Given the description of an element on the screen output the (x, y) to click on. 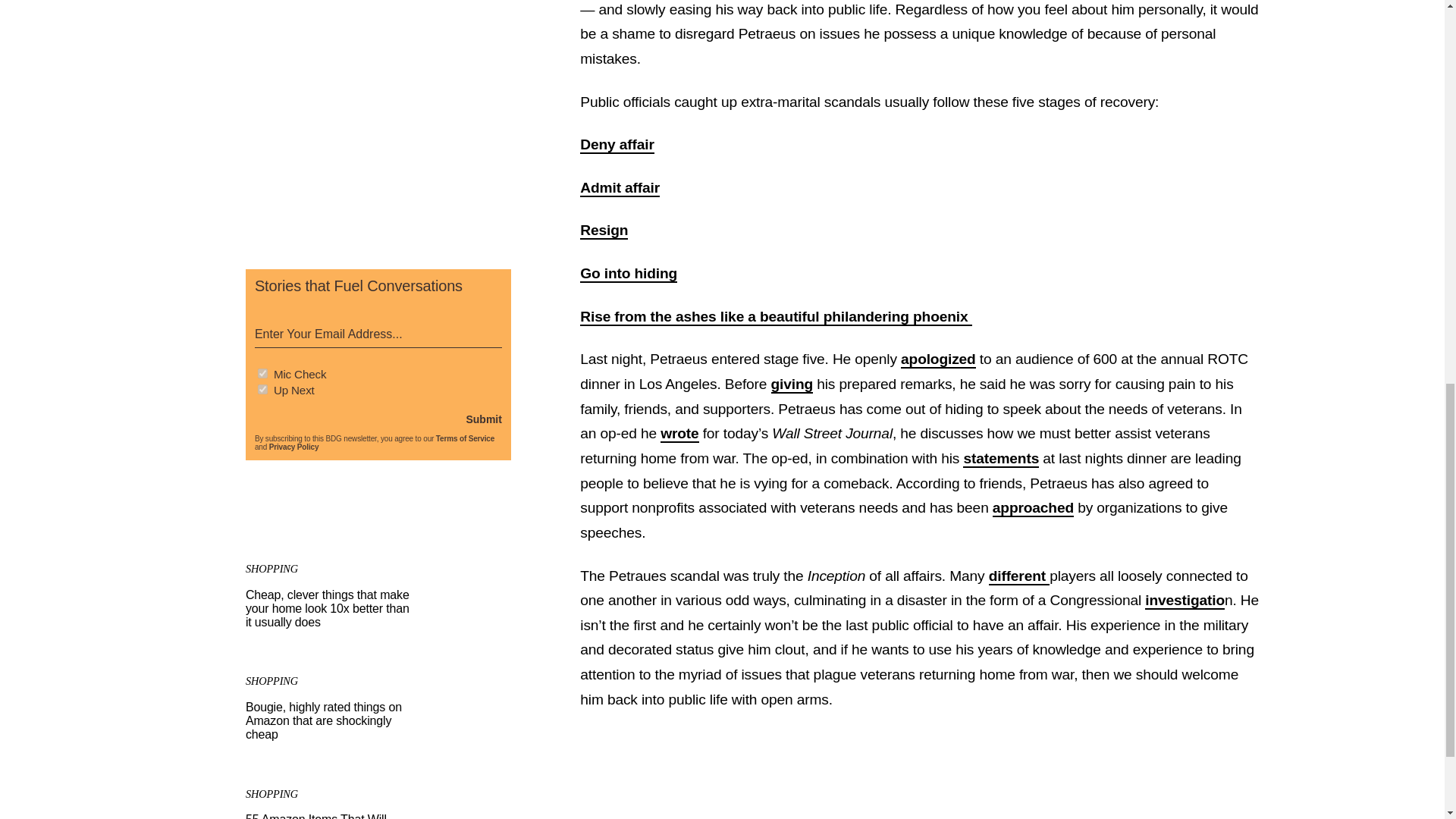
Deny affair (616, 144)
wrote (679, 434)
Resign (603, 230)
Rise from the ashes like a beautiful philandering phoenix  (775, 316)
different (1018, 576)
apologized (938, 359)
statements (1000, 458)
